Given the description of an element on the screen output the (x, y) to click on. 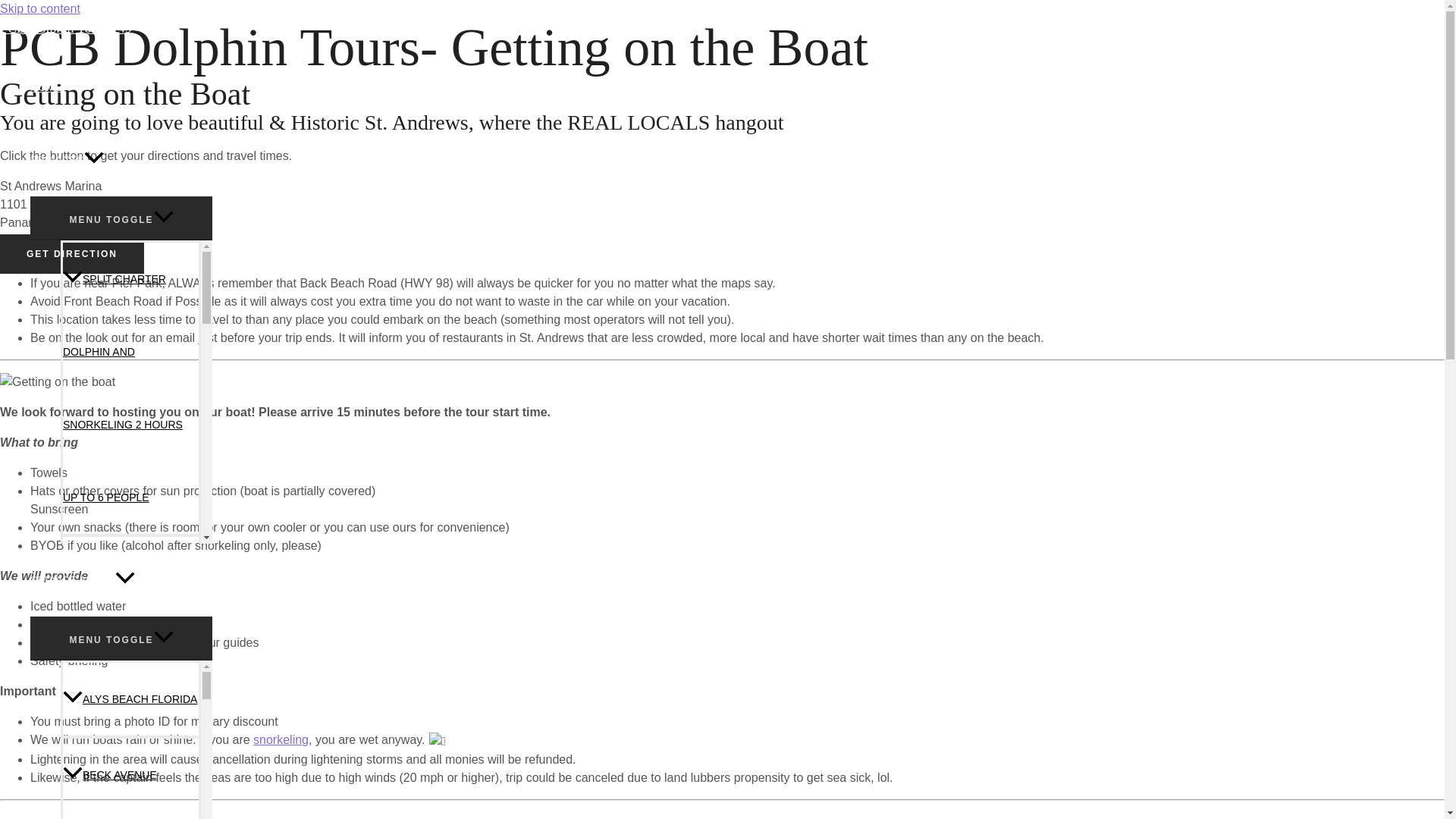
Skip to content (40, 8)
MENU TOGGLE (121, 637)
PCB Dolphin Tours 149 (66, 28)
ALYS BEACH FLORIDA (130, 698)
MENU TOGGLE (121, 217)
SERVICE AREAS (121, 579)
SERVICES (121, 159)
SPLIT CHARTER DOLPHIN AND SNORKELING 2 HOURS UP TO 6 PEOPLE (130, 387)
HOME (121, 86)
Skip to content (40, 8)
BECK AVENUE PANAMA CITY (130, 777)
